Given the description of an element on the screen output the (x, y) to click on. 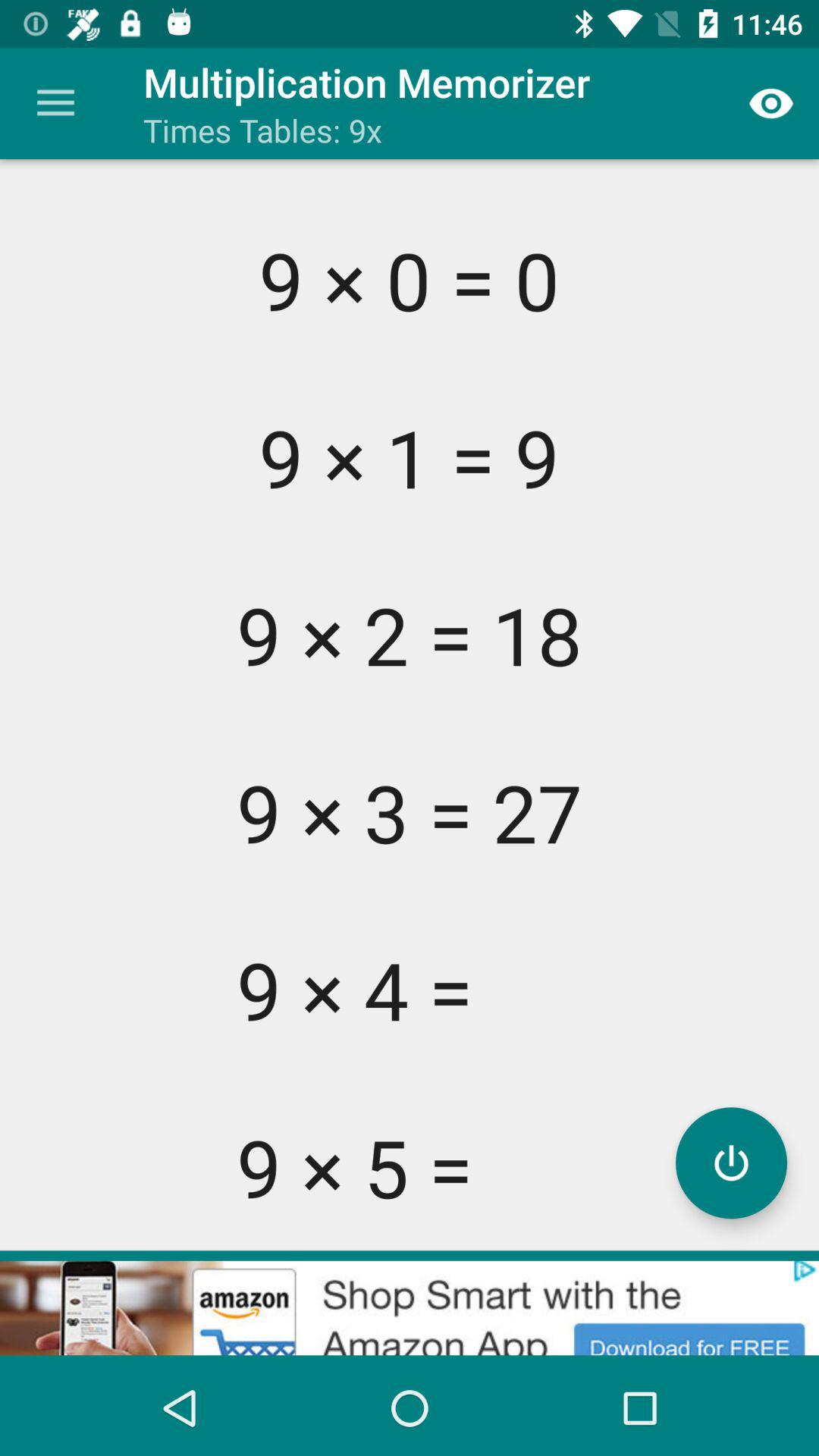
power button (731, 1162)
